Given the description of an element on the screen output the (x, y) to click on. 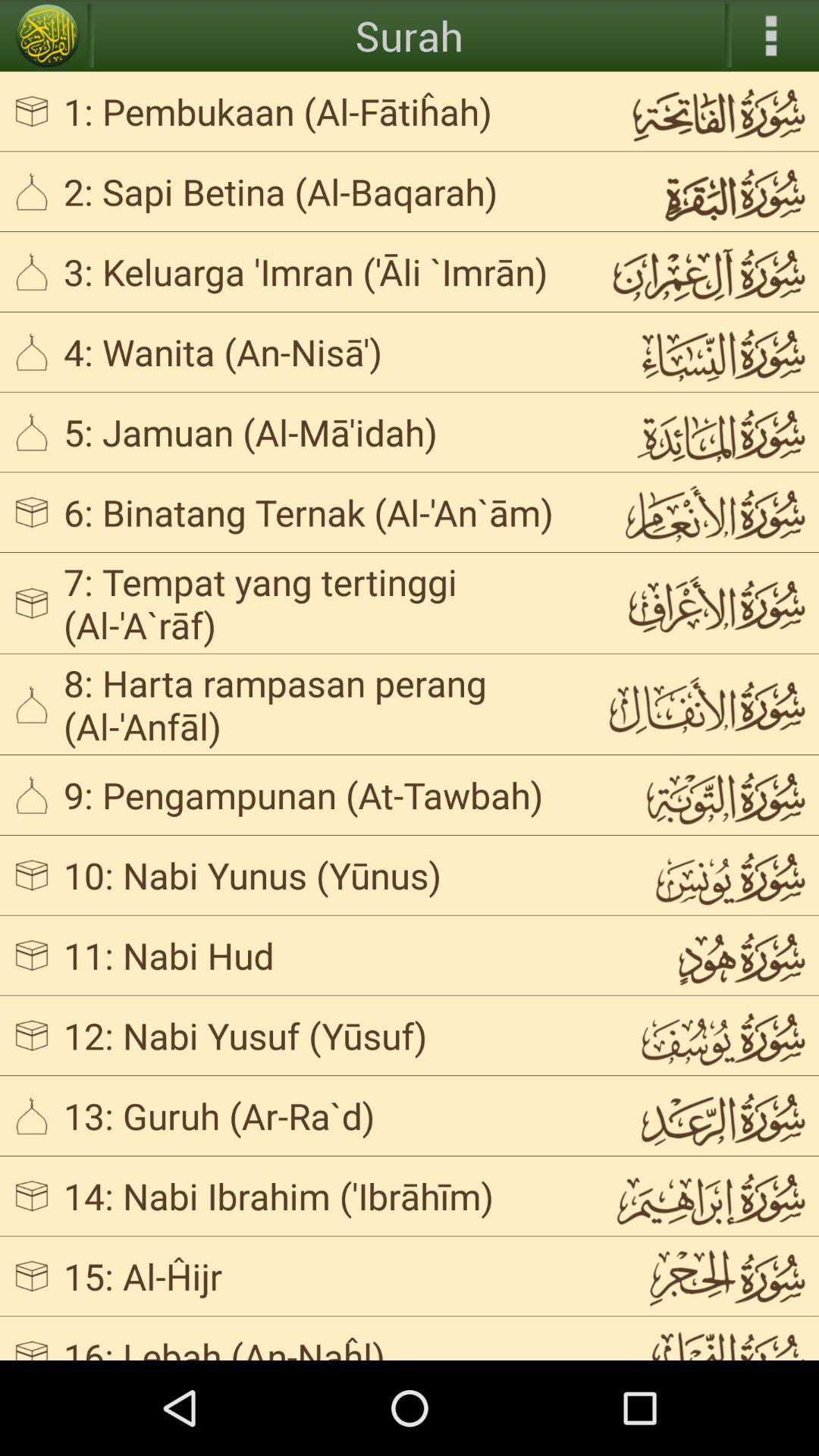
jump to 6 binatang ternak item (322, 511)
